Given the description of an element on the screen output the (x, y) to click on. 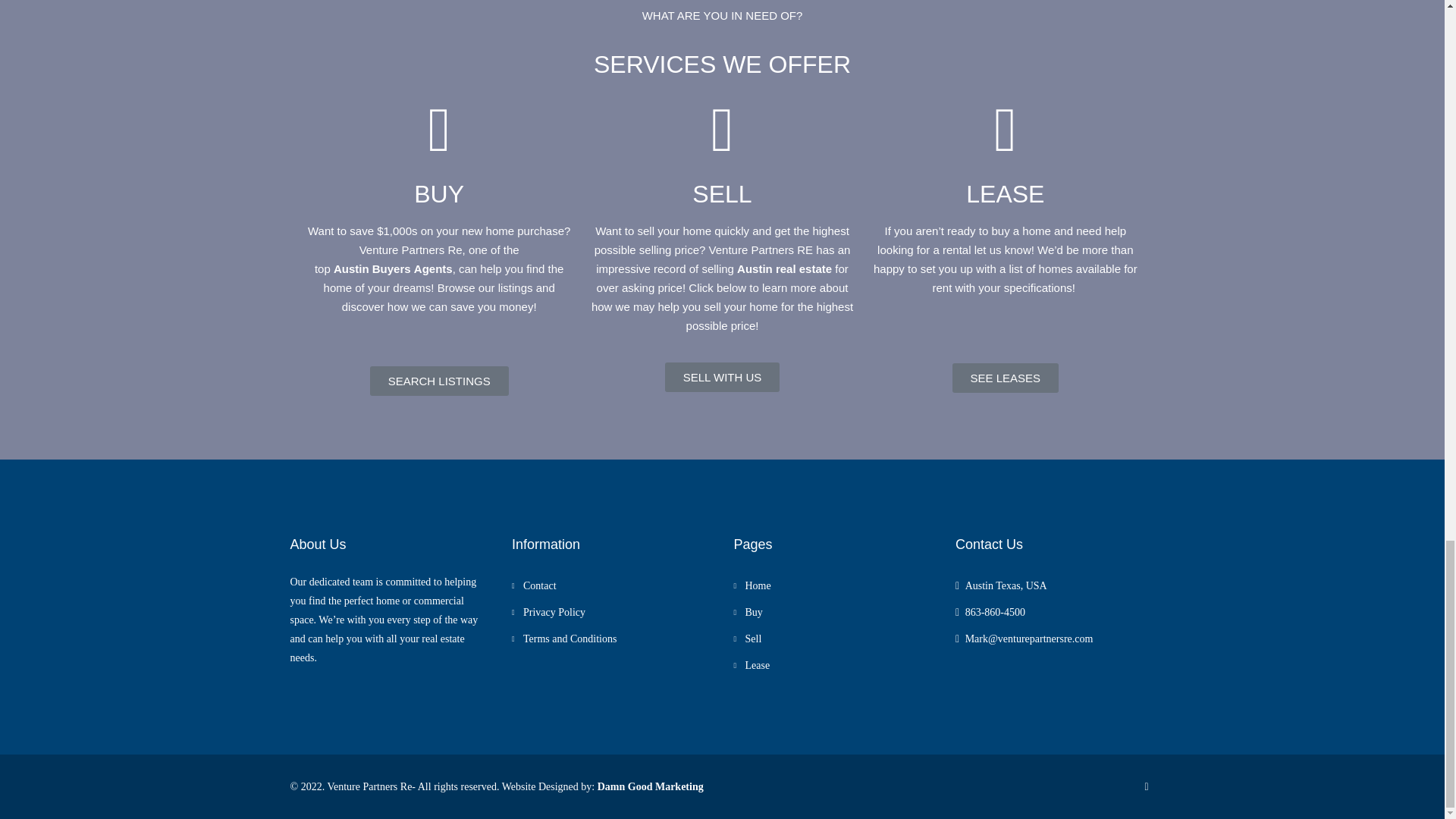
Home (752, 585)
Lease (751, 665)
Damn Good Marketing (649, 786)
Terms and Conditions (563, 638)
Sell (747, 638)
Buy (747, 612)
Contact (534, 585)
863-860-4500 (995, 612)
SELL WITH US (722, 377)
Privacy Policy (548, 612)
